Given the description of an element on the screen output the (x, y) to click on. 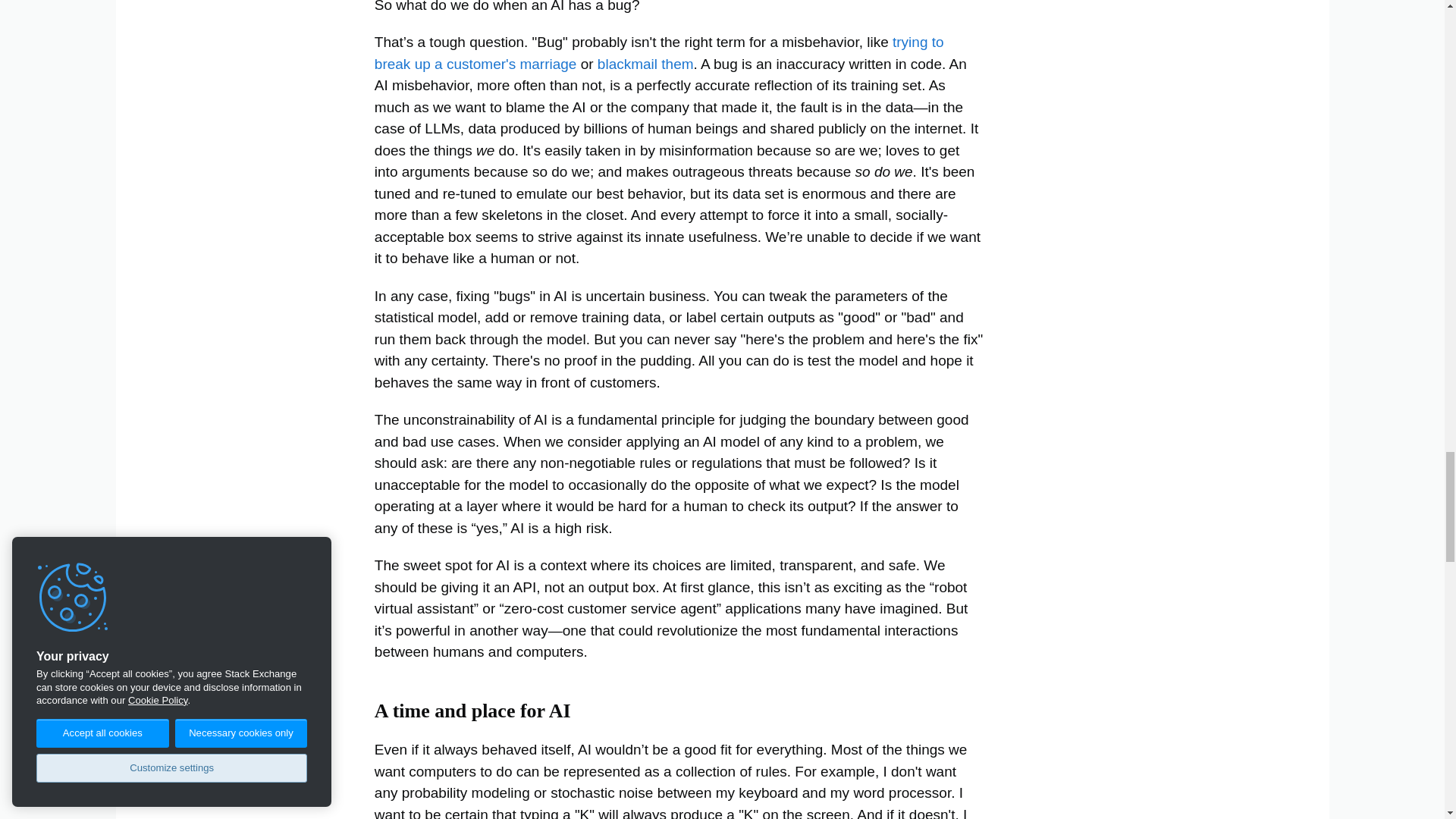
blackmail them (644, 64)
trying to break up a customer's marriage (658, 53)
